Given the description of an element on the screen output the (x, y) to click on. 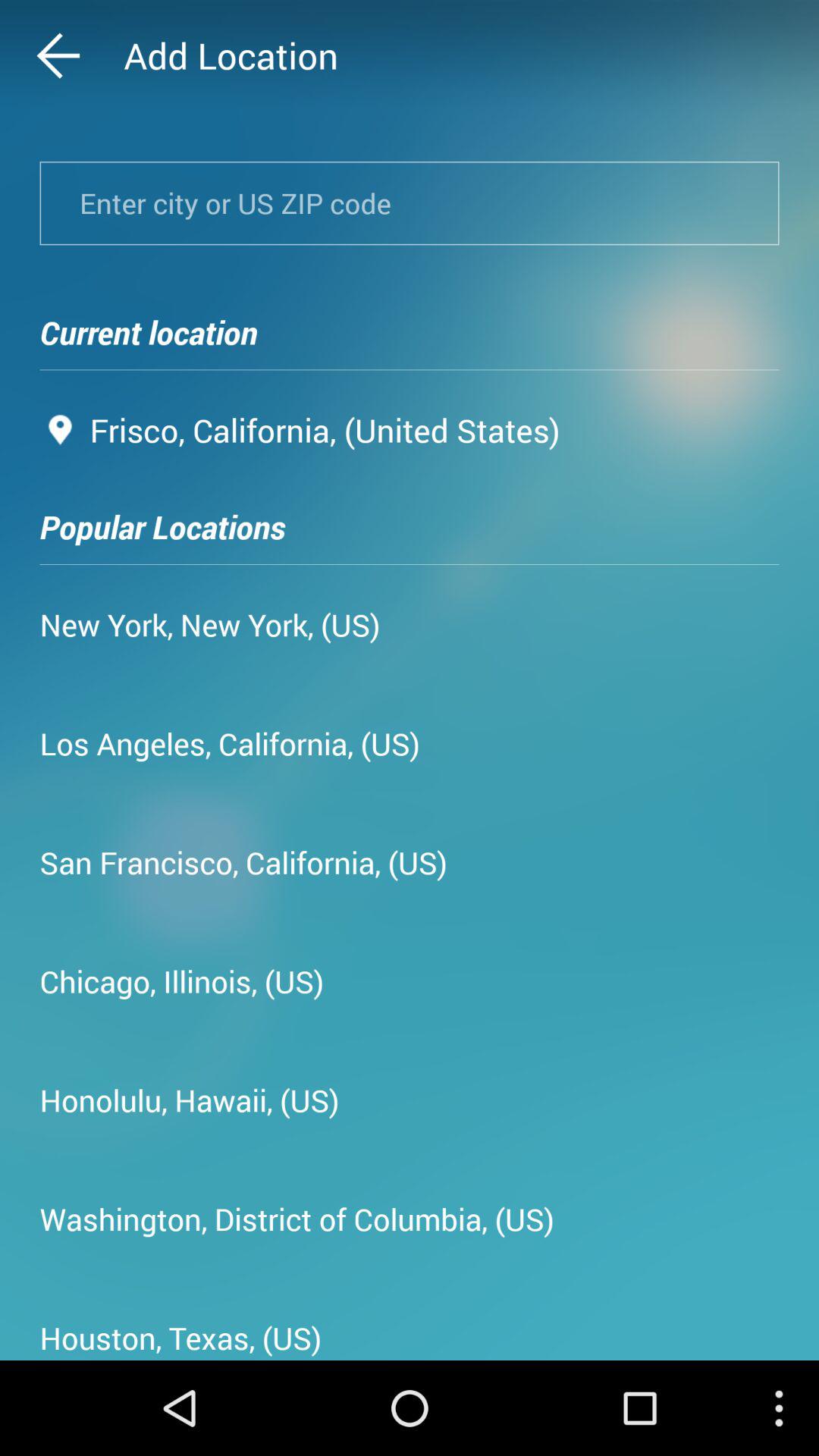
choose the icon above the chicago, illinois, (us) icon (243, 861)
